Given the description of an element on the screen output the (x, y) to click on. 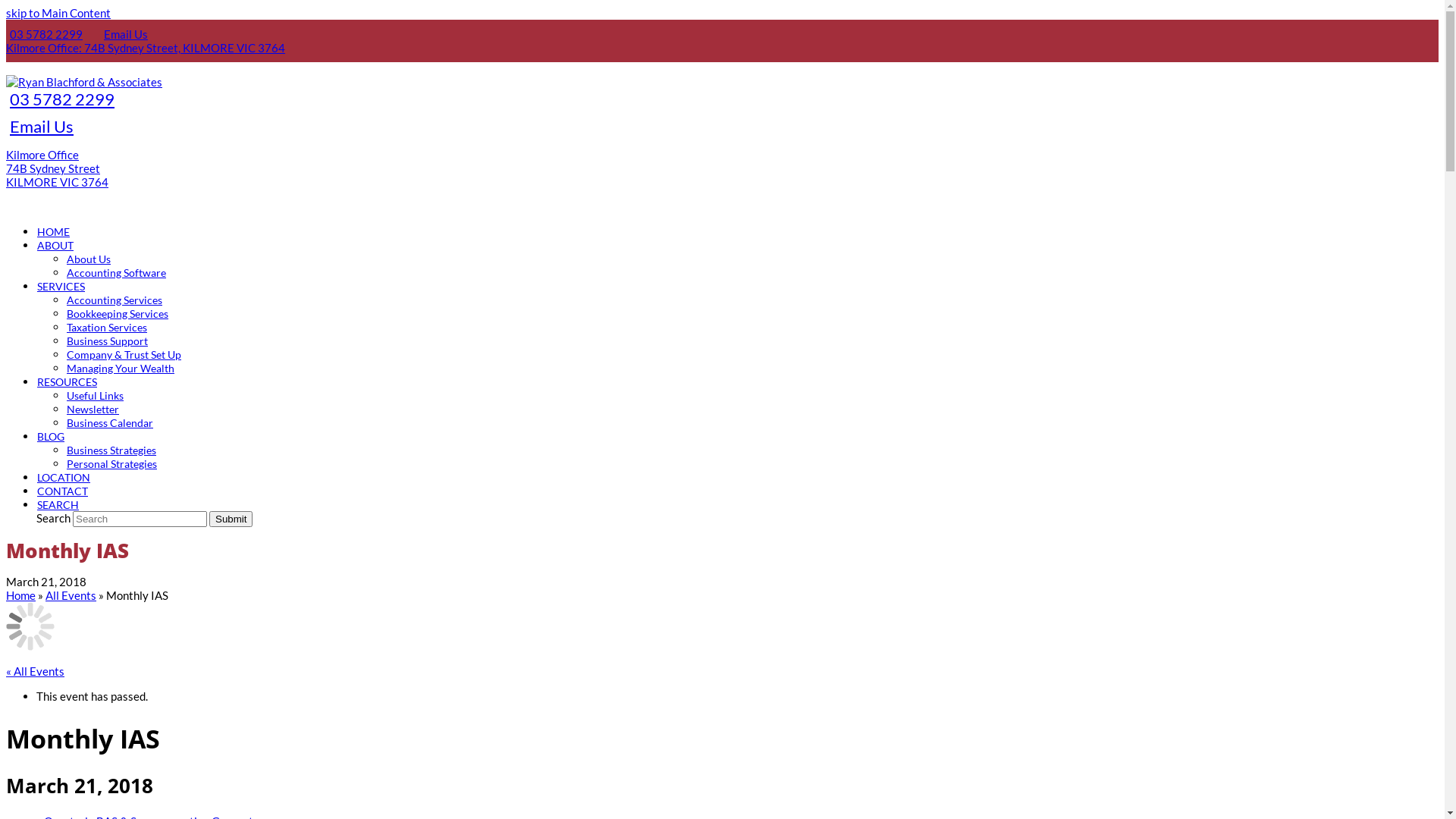
SEARCH Element type: text (57, 504)
BLOG Element type: text (50, 435)
03 5782 2299 Element type: text (44, 33)
SERVICES Element type: text (60, 285)
LOCATION Element type: text (63, 476)
Kilmore Office
74B Sydney Street
KILMORE VIC 3764 Element type: text (57, 167)
Email Us Element type: text (39, 126)
Newsletter Element type: text (92, 408)
Accounting Software Element type: text (116, 272)
Taxation Services Element type: text (106, 326)
Bookkeeping Services Element type: text (117, 313)
03 5782 2299 Element type: text (60, 98)
Submit Element type: text (230, 519)
Business Strategies Element type: text (111, 449)
About Us Element type: text (88, 258)
RESOURCES Element type: text (67, 381)
Accounting Services Element type: text (114, 299)
Email Us Element type: text (115, 33)
Personal Strategies Element type: text (111, 463)
All Events Element type: text (70, 595)
Useful Links Element type: text (94, 394)
Home Element type: text (20, 595)
Business Calendar Element type: text (109, 422)
skip to Main Content Element type: text (58, 12)
HOME Element type: text (53, 231)
Managing Your Wealth Element type: text (120, 367)
Kilmore Office: 74B Sydney Street, KILMORE VIC 3764 Element type: text (145, 47)
Business Support Element type: text (106, 340)
Company & Trust Set Up Element type: text (123, 353)
ABOUT Element type: text (55, 244)
CONTACT Element type: text (62, 490)
